Given the description of an element on the screen output the (x, y) to click on. 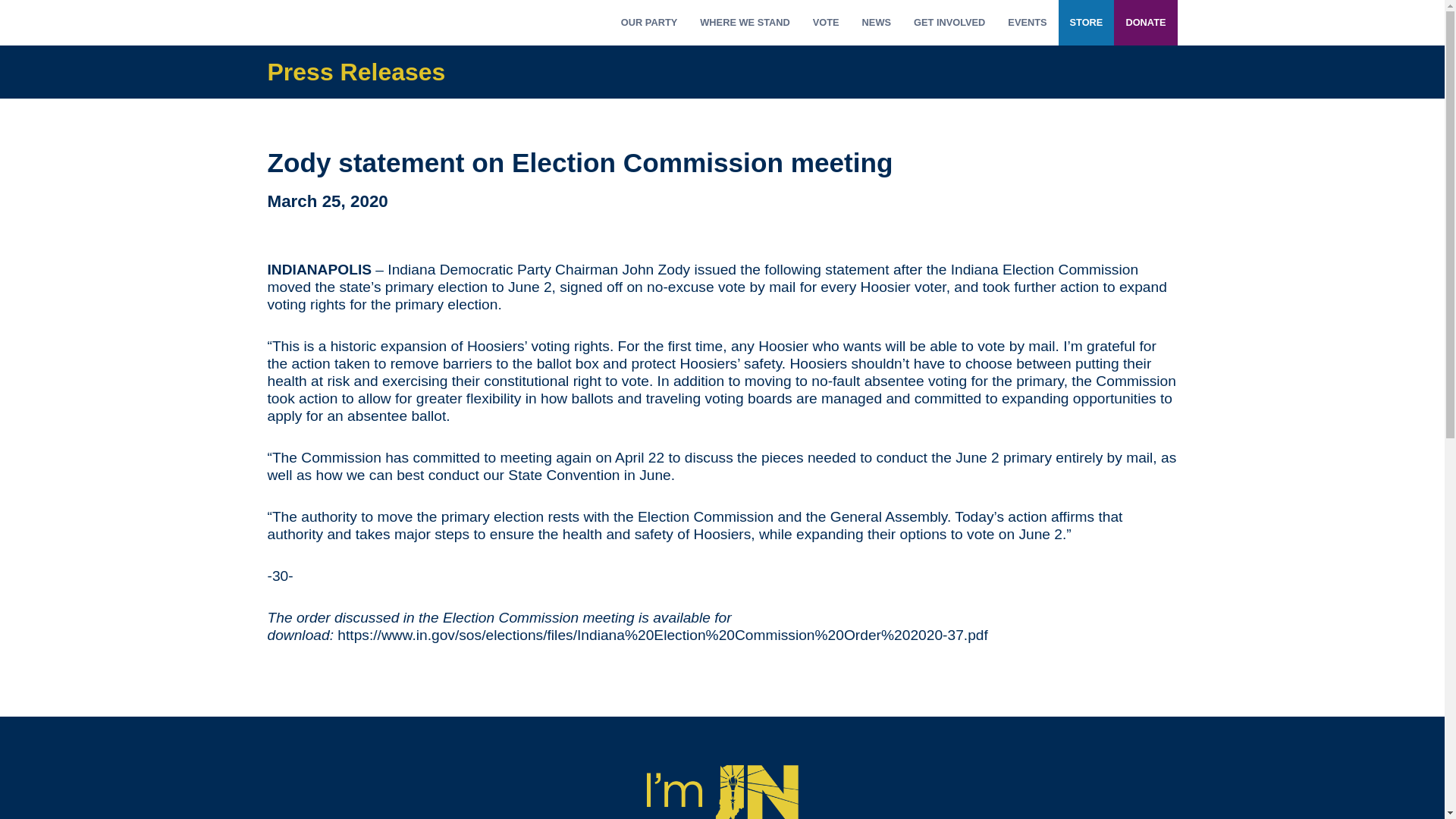
EVENTS (1026, 22)
NEWS (876, 22)
INDIANA DEMOCRATIC PARTY (341, 22)
GET INVOLVED (948, 22)
WHERE WE STAND (744, 22)
VOTE (826, 22)
STORE (1086, 22)
OUR PARTY (649, 22)
DONATE (1144, 22)
